Given the description of an element on the screen output the (x, y) to click on. 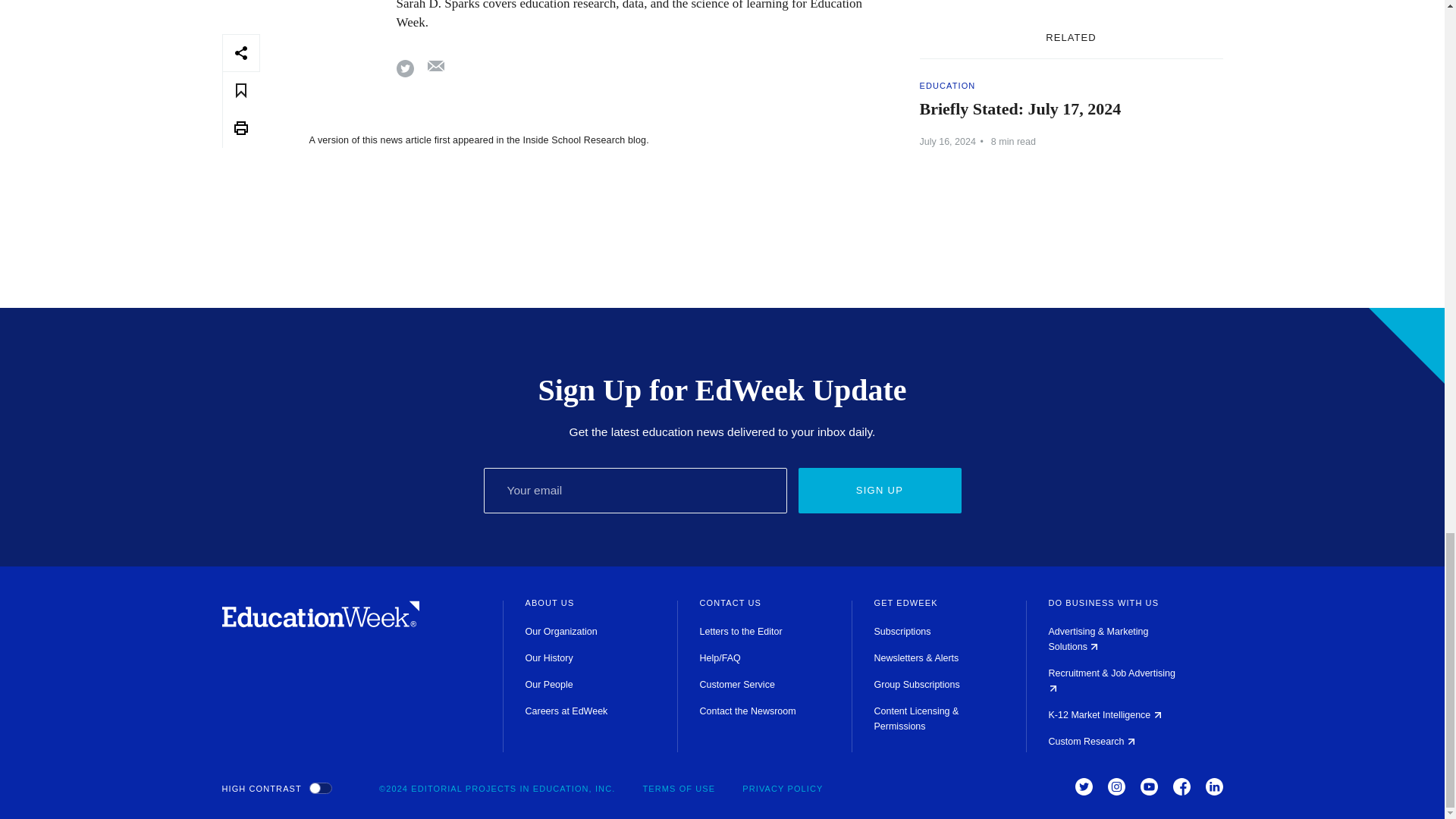
Homepage (320, 623)
